Given the description of an element on the screen output the (x, y) to click on. 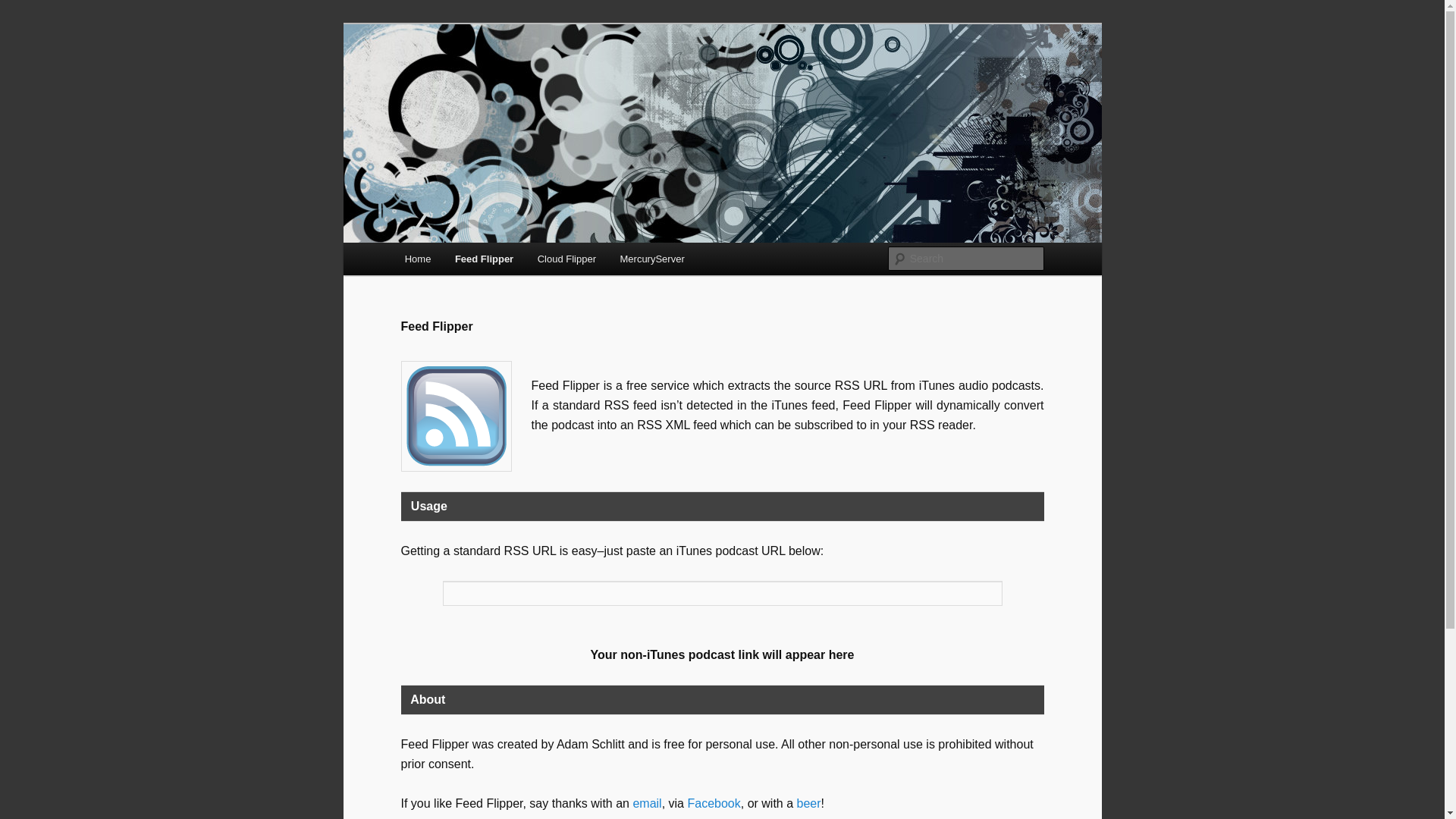
Cloud Flipper (566, 258)
MercuryServer (652, 258)
Search (24, 8)
Feed Flipper (483, 258)
beer (808, 802)
Cloud Flipper (566, 258)
MercuryServer (652, 258)
picklemonkey.net (494, 78)
Feed Flipper (455, 416)
